Given the description of an element on the screen output the (x, y) to click on. 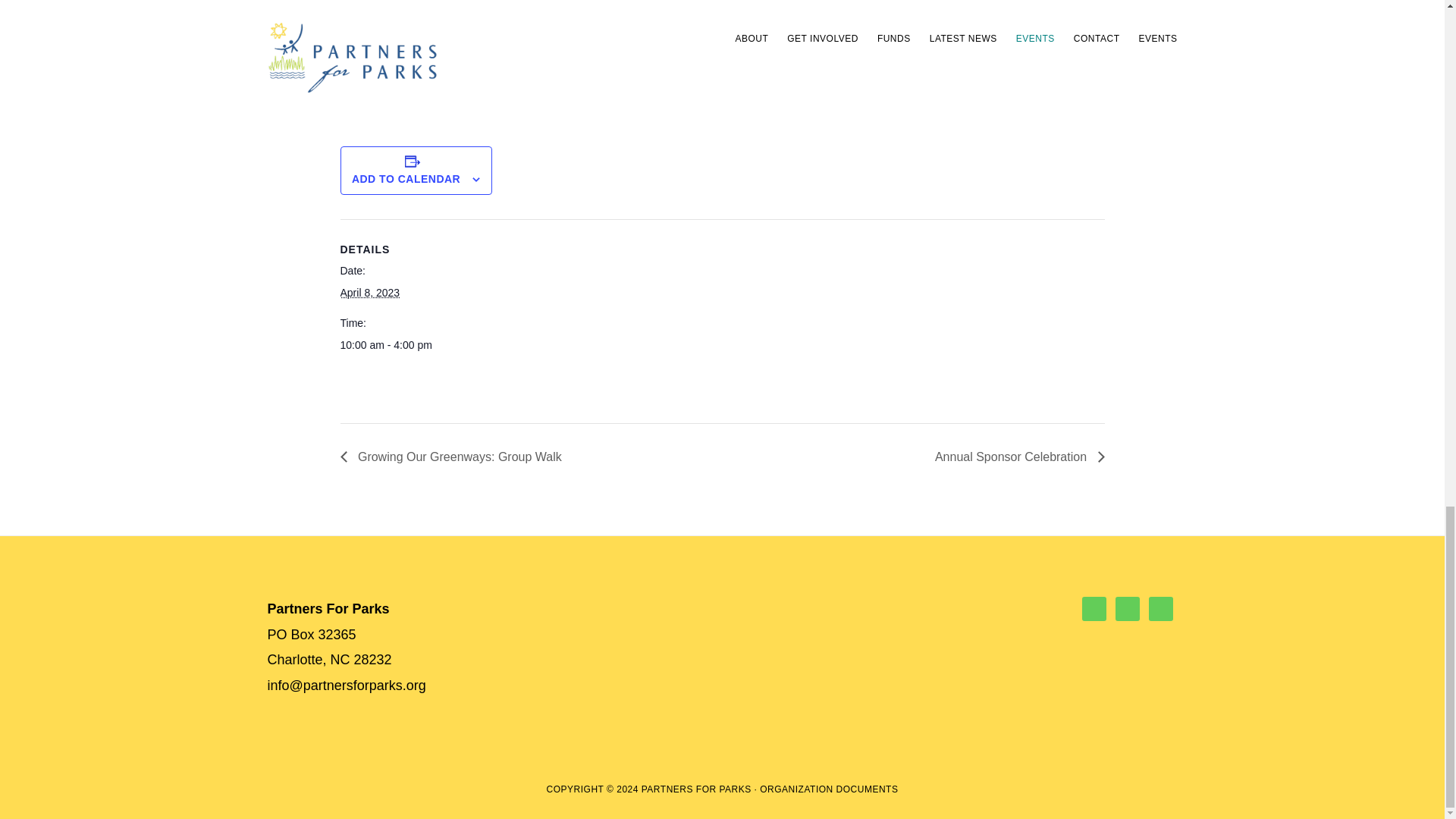
Growing Our Greenways: Group Walk (454, 456)
ADD TO CALENDAR (406, 178)
Annual Sponsor Celebration (1015, 456)
2023-04-08 (368, 292)
ORGANIZATION DOCUMENTS (829, 788)
2023-04-08 (403, 344)
